Given the description of an element on the screen output the (x, y) to click on. 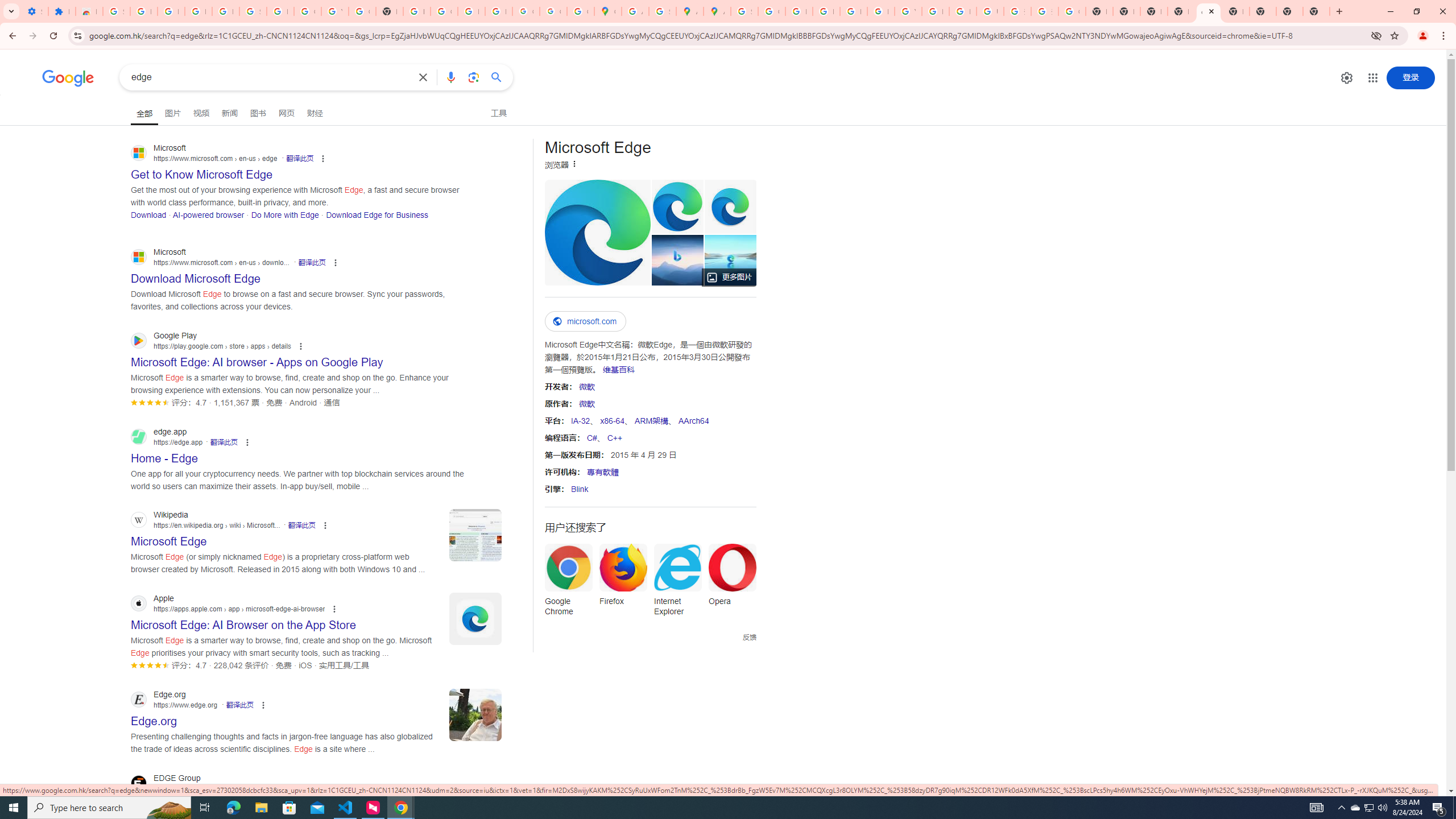
 Home - Edge edge.app https://edge.app (164, 455)
microsoft.com (585, 321)
C++ (615, 437)
Google (68, 78)
